Given the description of an element on the screen output the (x, y) to click on. 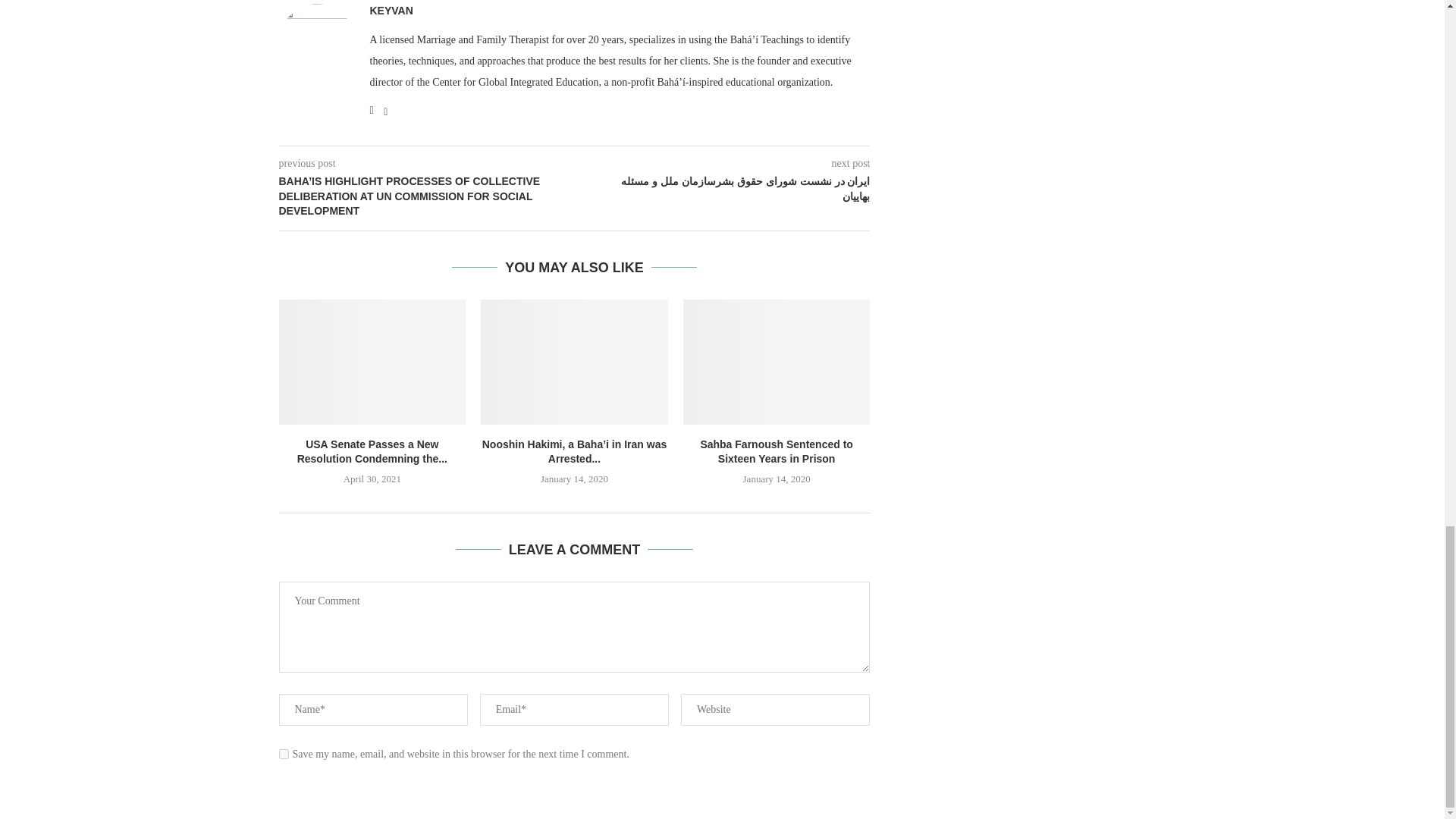
yes (283, 754)
Author keyvan (391, 11)
Sahba Farnoush Sentenced to Sixteen Years in Prison (776, 361)
